Given the description of an element on the screen output the (x, y) to click on. 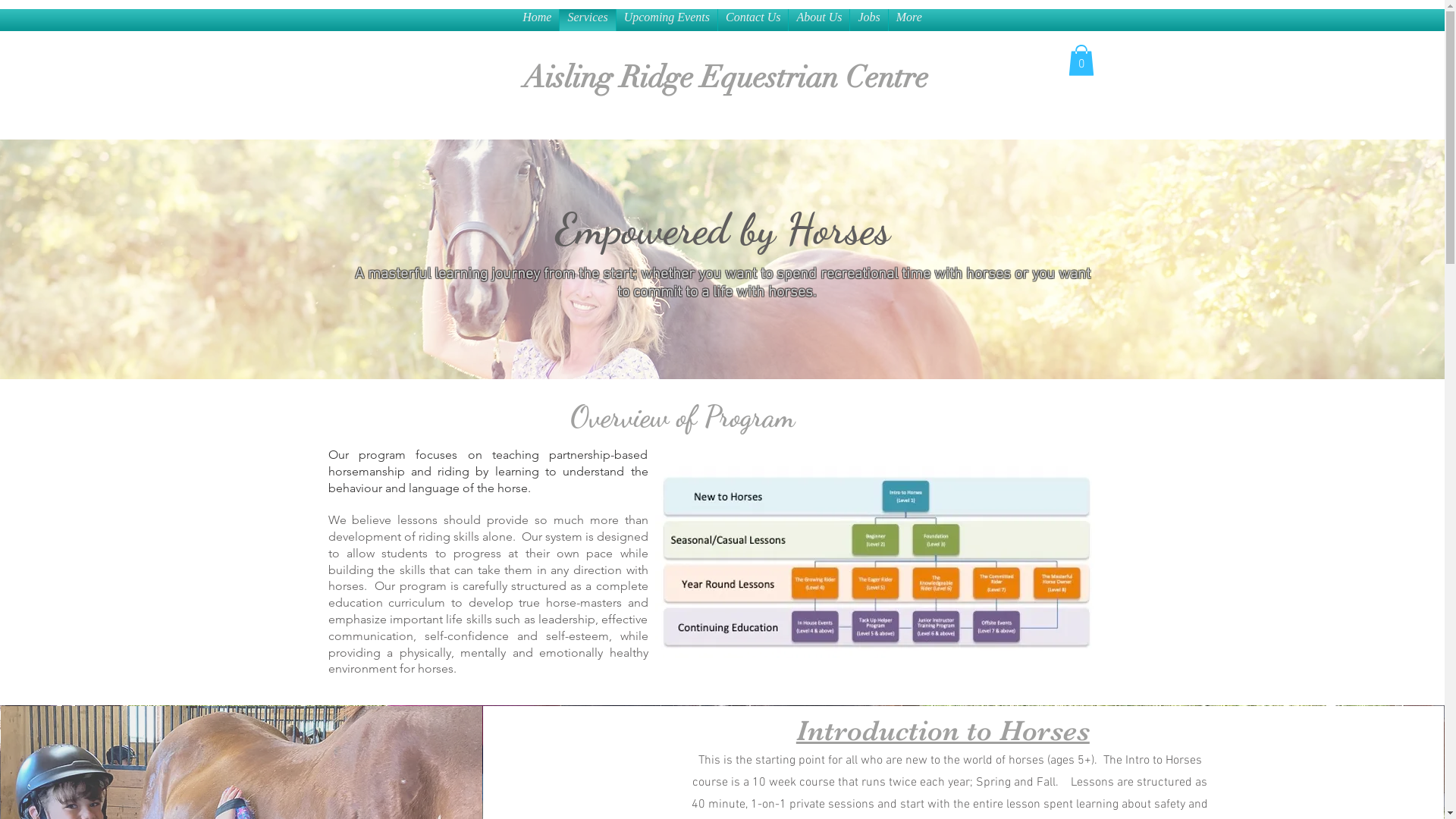
Contact Us Element type: text (752, 20)
Services Element type: text (587, 20)
0 Element type: text (1080, 59)
Aisling Ridge Equestrian Centre Element type: text (725, 77)
Home Element type: text (536, 20)
Jobs Element type: text (868, 20)
About Us Element type: text (818, 20)
Upcoming Events Element type: text (666, 20)
